Given the description of an element on the screen output the (x, y) to click on. 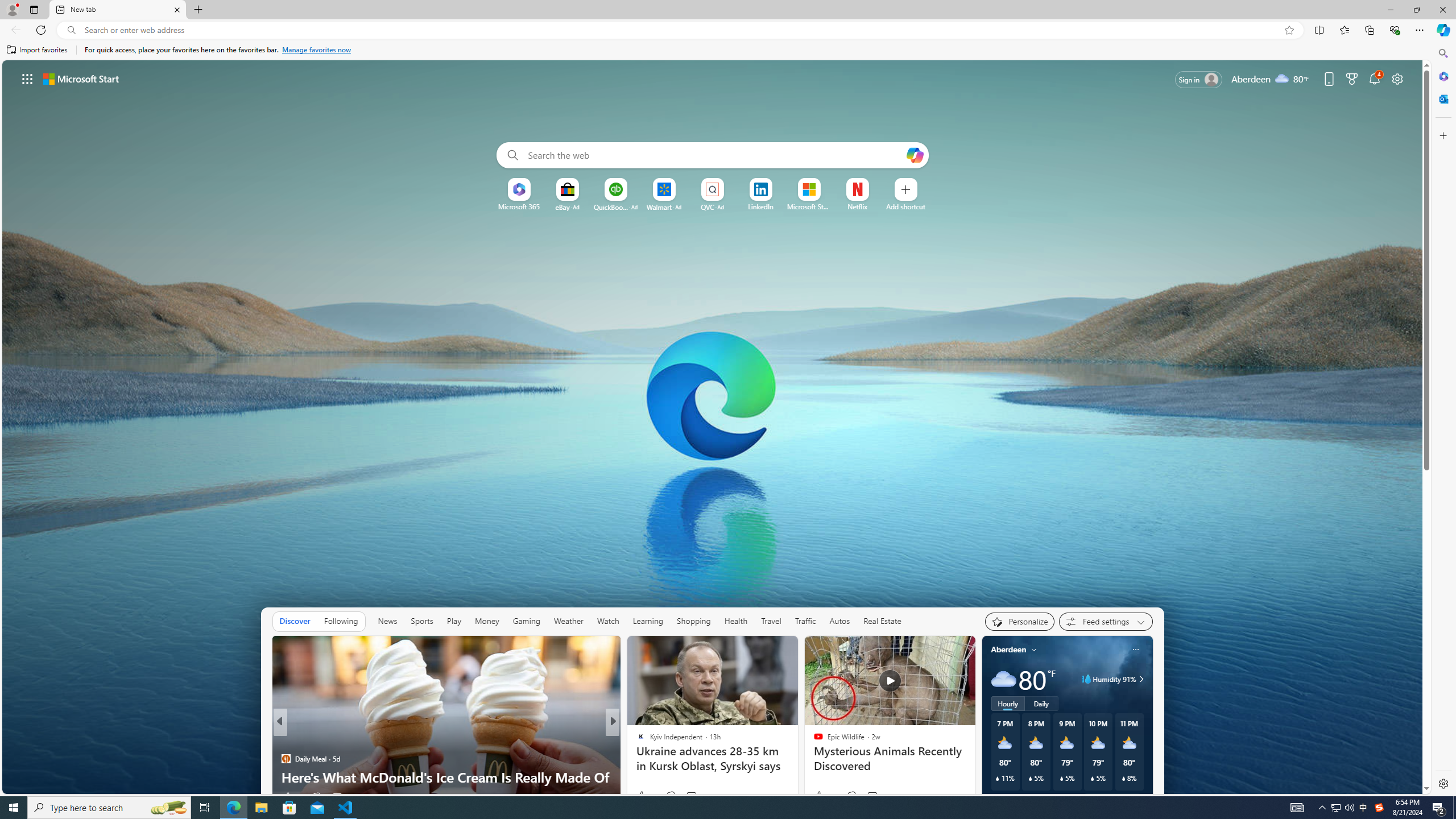
Manage favorites now (316, 49)
Search icon (70, 29)
Favorites bar (715, 49)
Side bar (1443, 418)
